Given the description of an element on the screen output the (x, y) to click on. 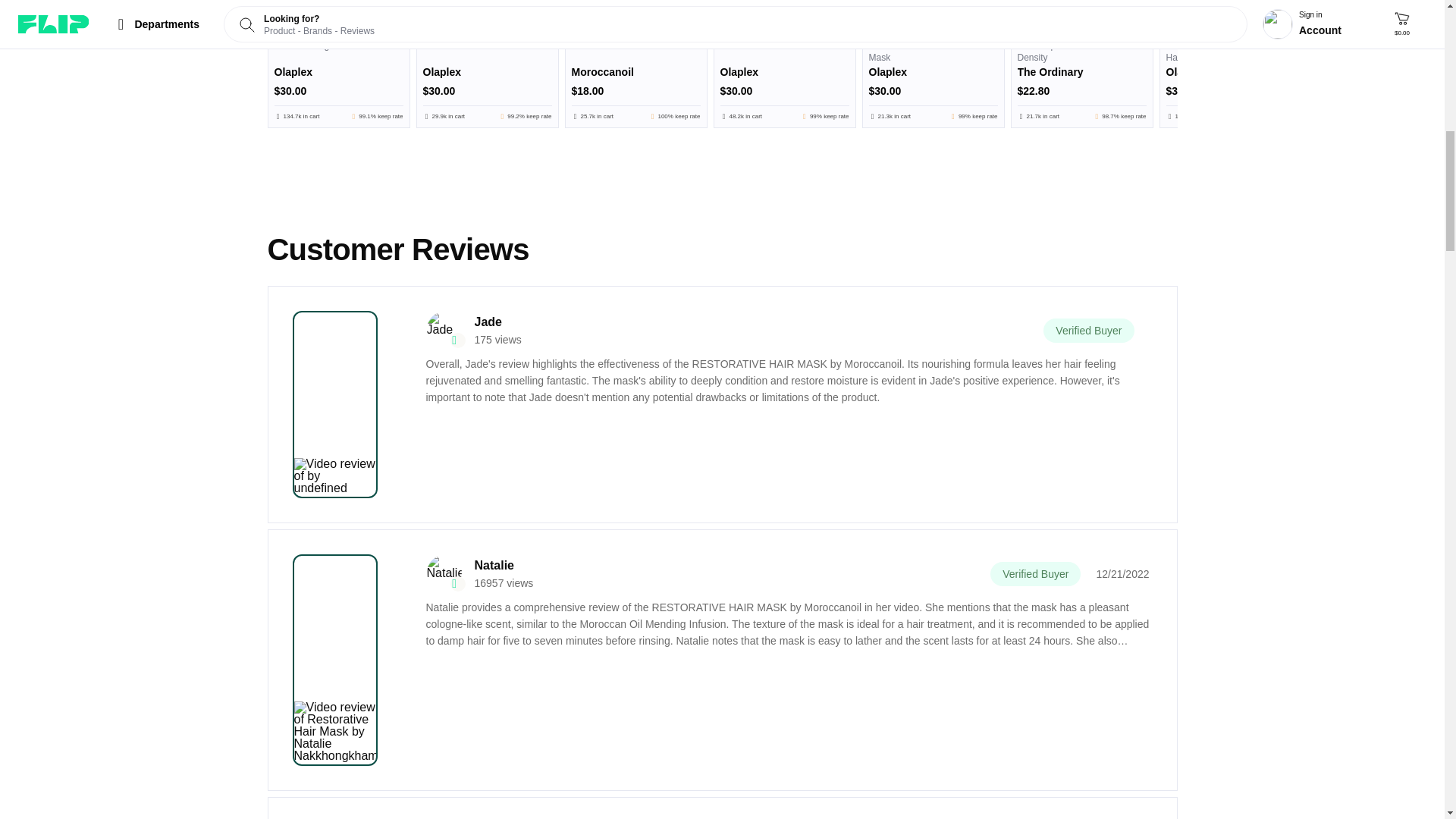
Olaplex No.6 Bond Smoother (486, 16)
Olaplex No.7 Bonding Oil (338, 16)
Moroccanoil Treatment (636, 79)
Moroccanoil Moroccanoil Treatment (636, 16)
No.7 Bonding Oil (338, 79)
No.6 Bond Smoother (486, 79)
